Given the description of an element on the screen output the (x, y) to click on. 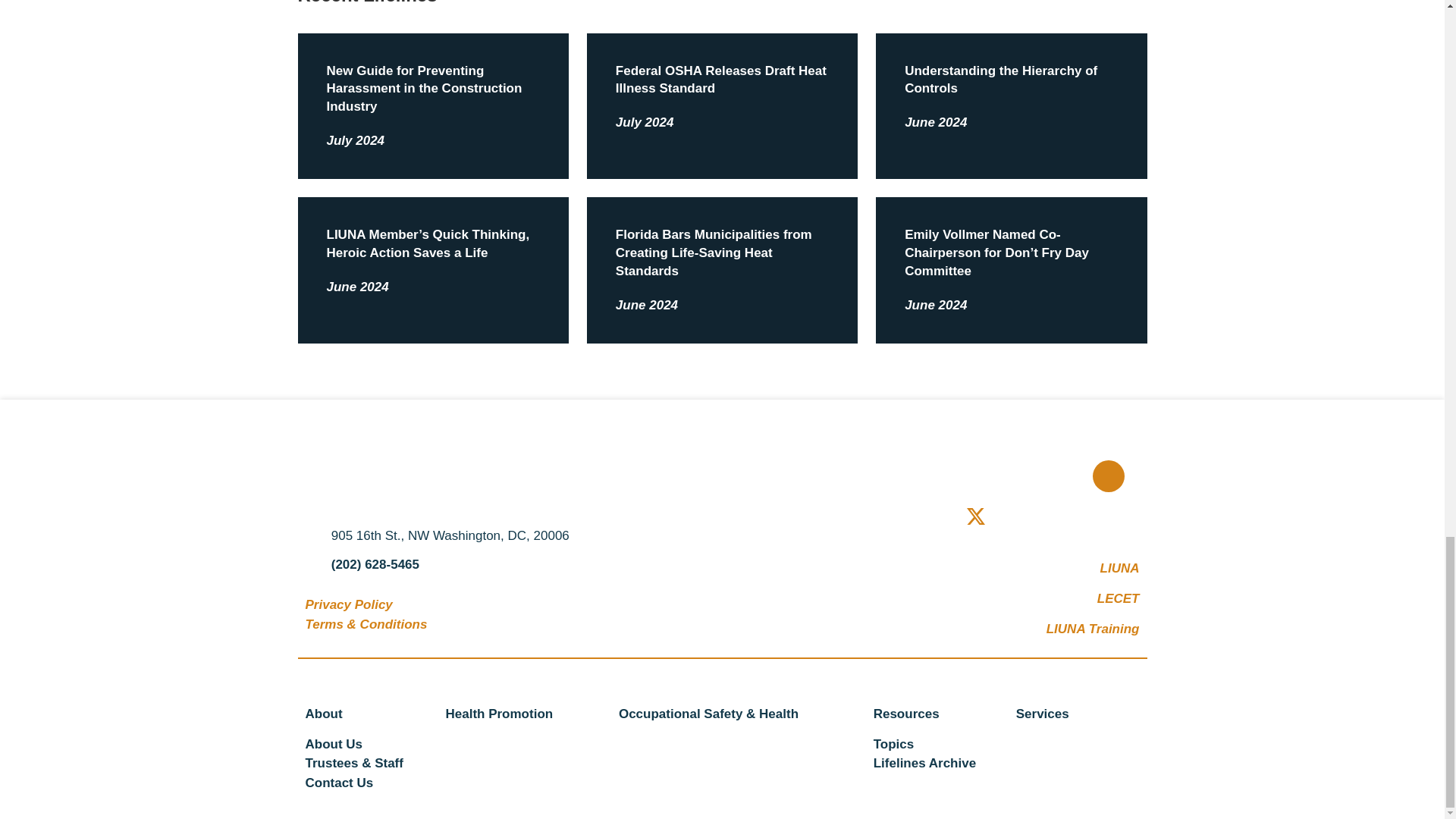
Understanding the Hierarchy of Controls (1000, 79)
Privacy Policy (347, 604)
Federal OSHA Releases Draft Heat Illness Standard (721, 79)
